Given the description of an element on the screen output the (x, y) to click on. 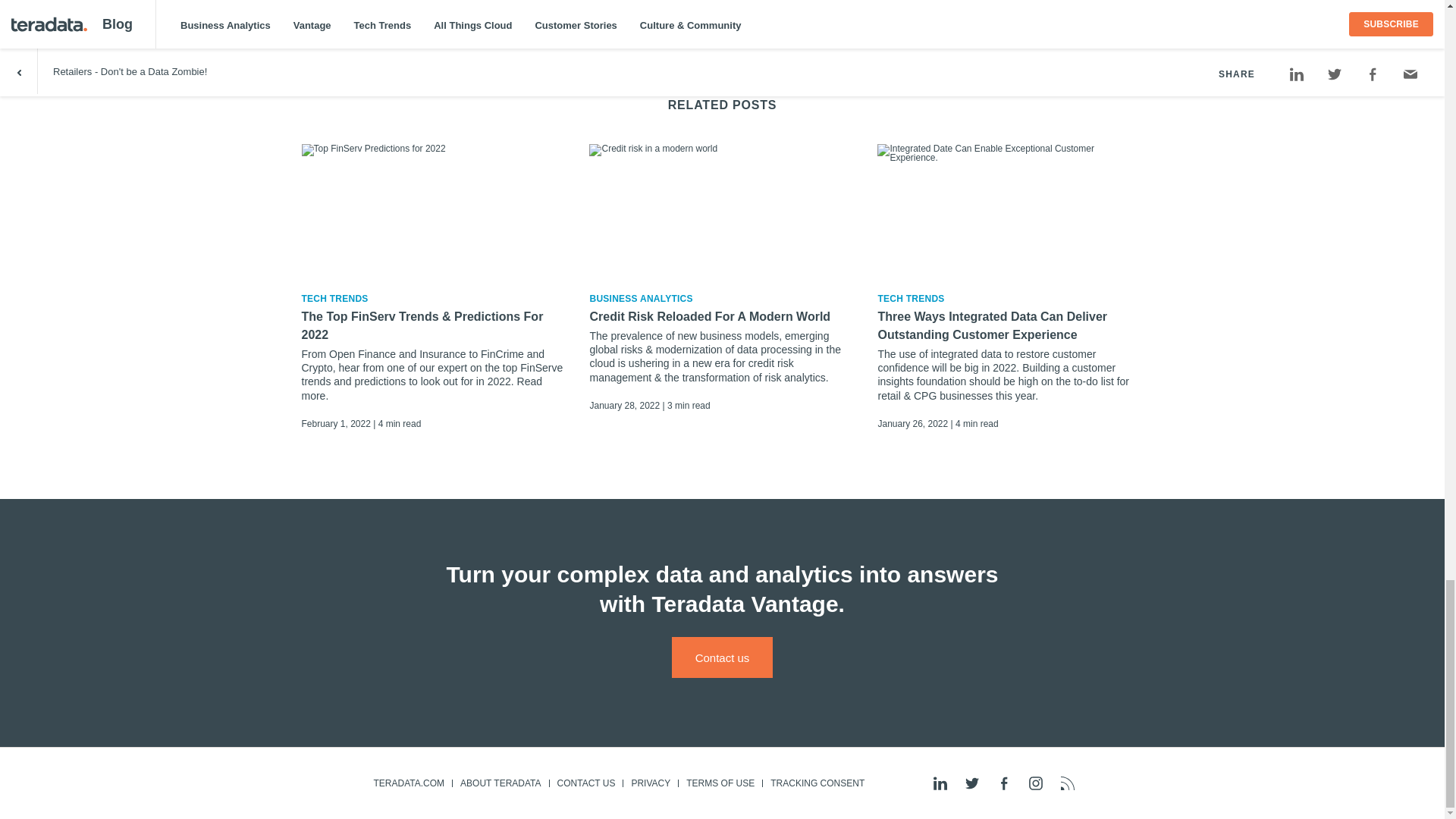
Contact us (722, 657)
Credit risk in a modern world (721, 210)
PRIVACY (650, 783)
ABOUT TERADATA (499, 783)
TRACKING CONSENT (816, 783)
Integrated Date Can Enable Exceptional Customer Experience. (1009, 210)
TERADATA.COM (408, 783)
Open the Teradata Web Tracking Consent Center (816, 783)
Credit Risk Reloaded For A Modern World (721, 316)
CONTACT US (585, 783)
Top FinServ Predictions for 2022 (434, 210)
TERMS OF USE (719, 783)
